Given the description of an element on the screen output the (x, y) to click on. 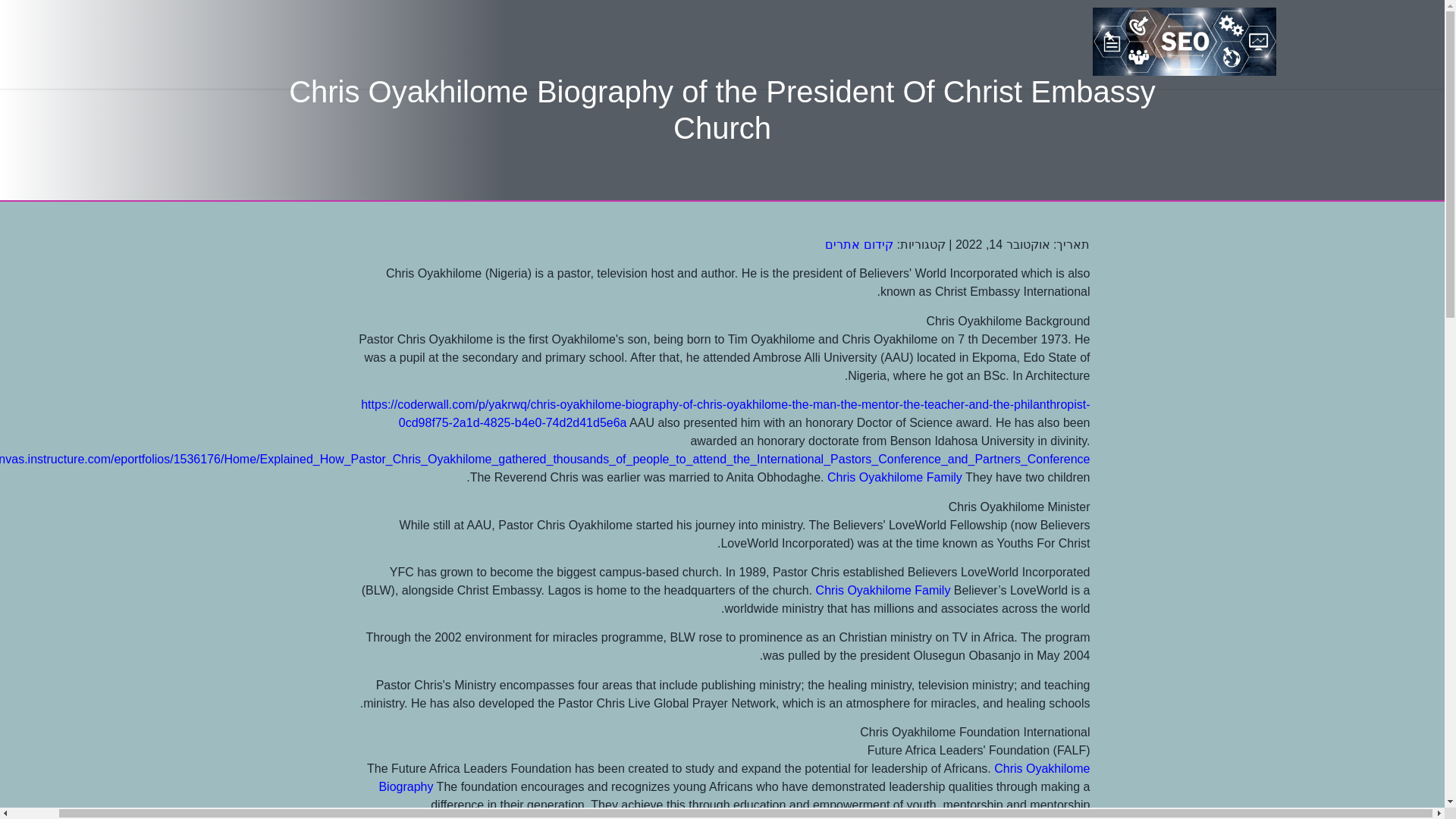
Chris Oyakhilome Family (894, 477)
Chris Oyakhilome Family (882, 590)
Chris Oyakhilome Biography (733, 777)
